Given the description of an element on the screen output the (x, y) to click on. 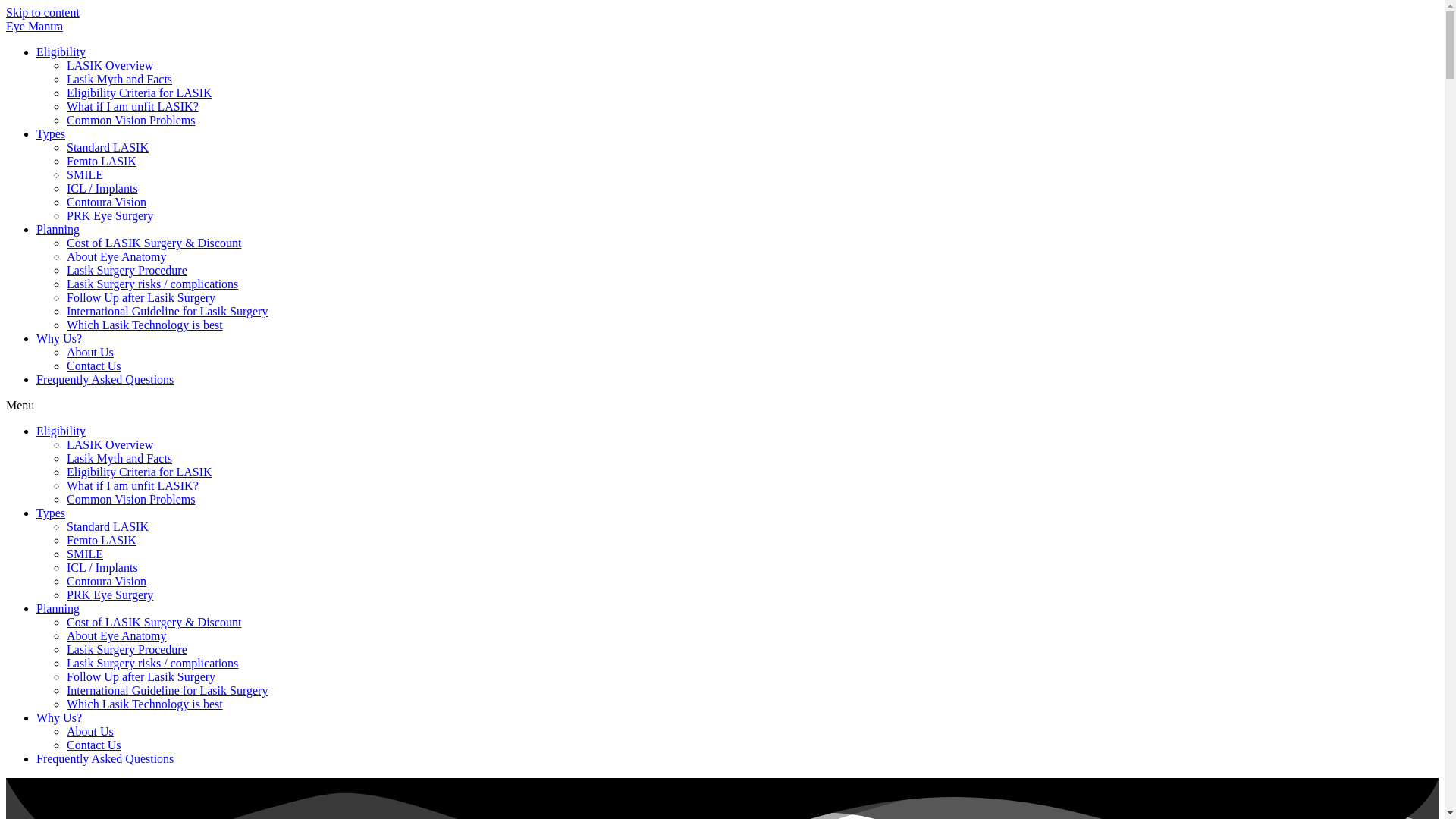
Standard LASIK (107, 526)
Common Vision Problems (130, 119)
Standard LASIK (107, 146)
Common Vision Problems (130, 499)
Lasik Surgery Procedure (126, 269)
Planning (58, 228)
Why Us? (58, 338)
Frequently Asked Questions (104, 379)
Eligibility (60, 431)
Eye Mantra (33, 25)
Contoura Vision (106, 201)
Contact Us (93, 365)
PRK Eye Surgery (109, 215)
SMILE (84, 174)
What if I am unfit LASIK? (132, 485)
